Given the description of an element on the screen output the (x, y) to click on. 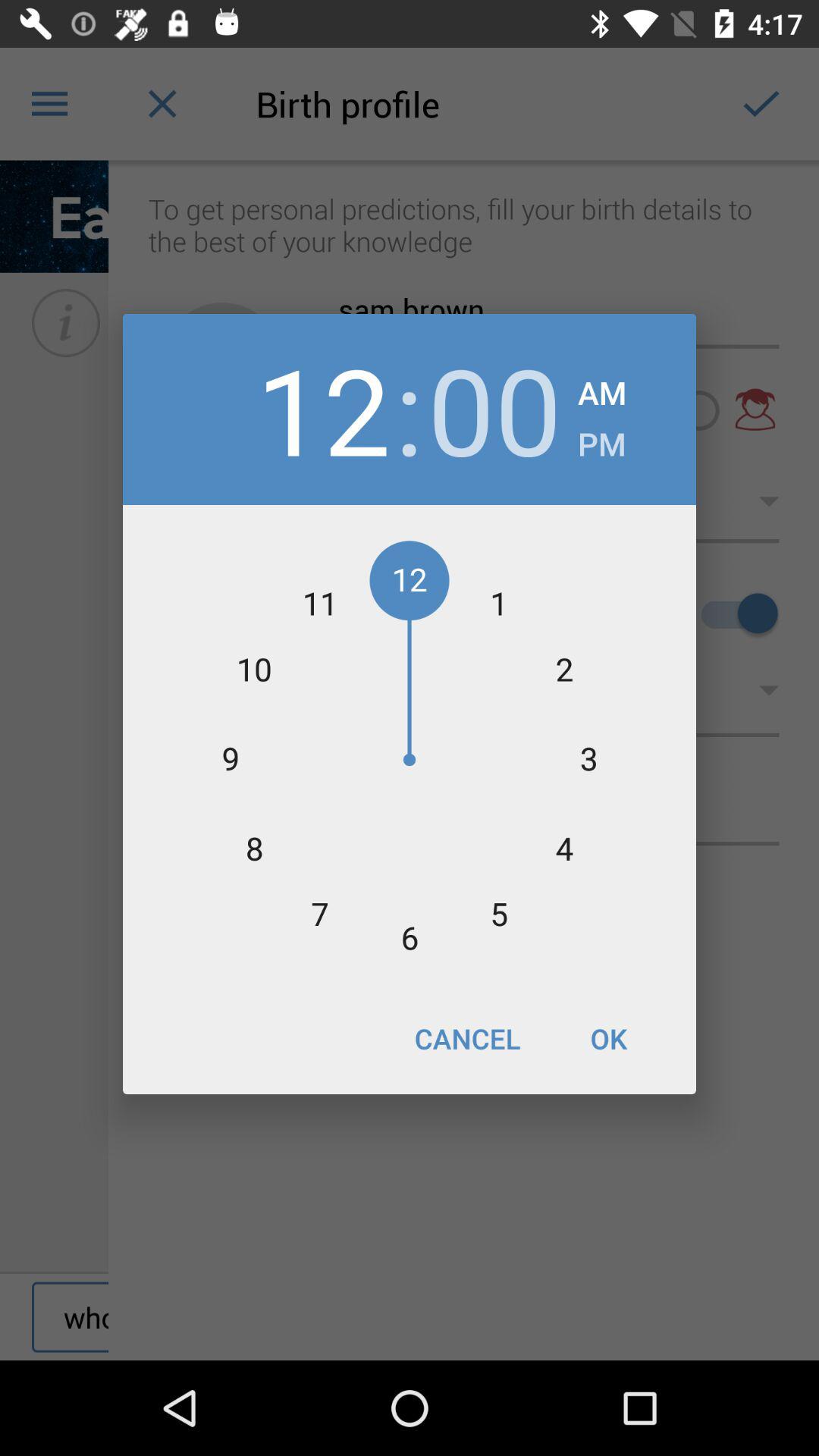
open icon next to cancel icon (608, 1038)
